Given the description of an element on the screen output the (x, y) to click on. 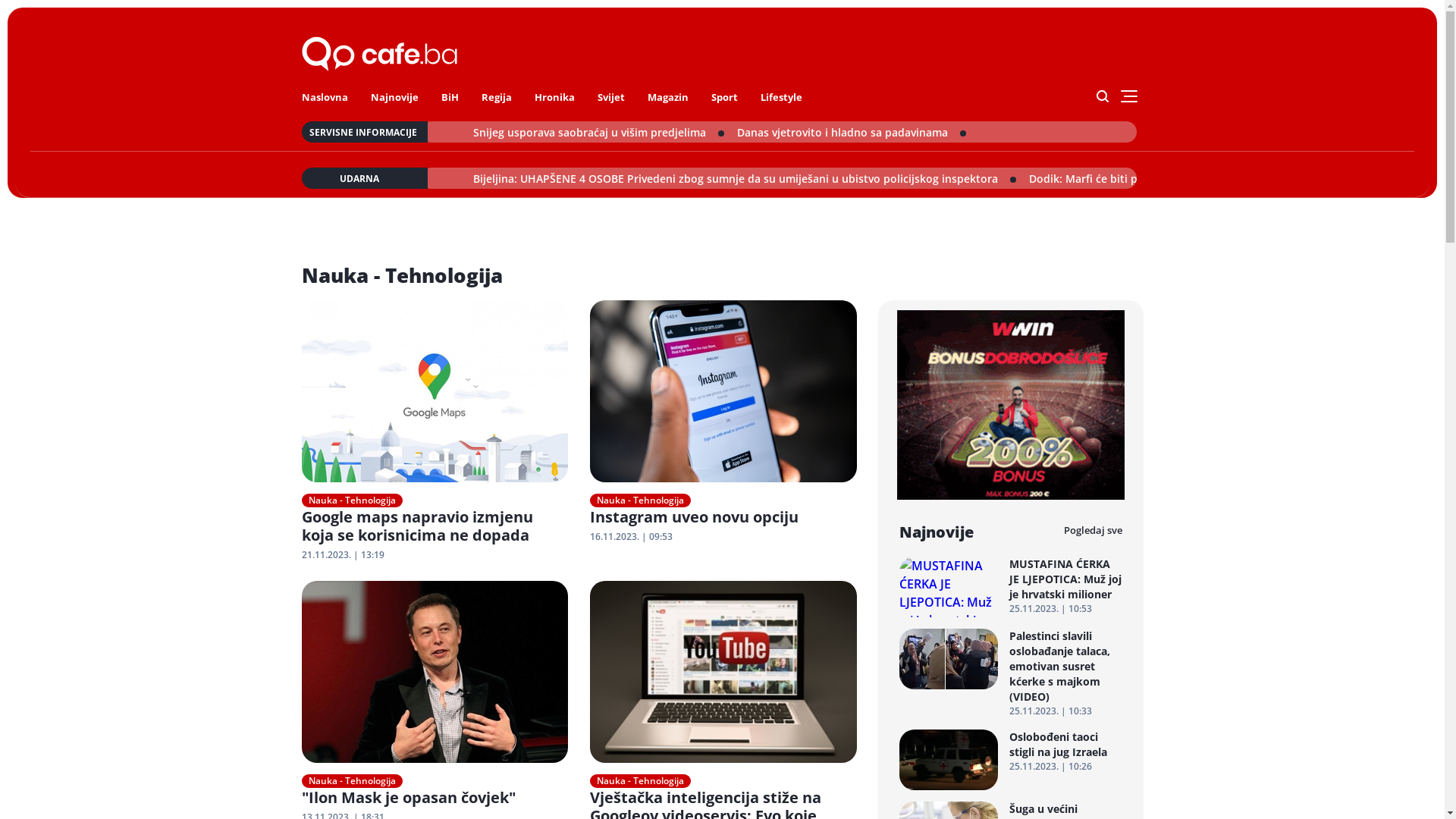
Najnovije Element type: text (393, 96)
Nauka - Tehnologija Element type: text (351, 500)
Google maps napravio izmjenu koja se korisnicima ne dopada Element type: text (432, 534)
21.11.2023. | 13:19 Element type: text (432, 554)
Nauka - Tehnologija Element type: text (351, 780)
16.11.2023. | 09:53 Element type: text (721, 536)
Instagram uveo novu opciju Element type: text (721, 525)
Danas vjetrovito i hladno sa padavinama Element type: text (627, 132)
Magazin Element type: text (667, 96)
Sport Element type: text (724, 96)
Regija Element type: text (495, 96)
Hronika Element type: text (553, 96)
Svijet Element type: text (610, 96)
BiH Element type: text (449, 96)
Naslovna Element type: text (324, 96)
Lifestyle Element type: text (780, 96)
Nauka - Tehnologija Element type: text (639, 780)
Pogledaj sve Element type: text (1092, 530)
Nauka - Tehnologija Element type: text (639, 500)
